Given the description of an element on the screen output the (x, y) to click on. 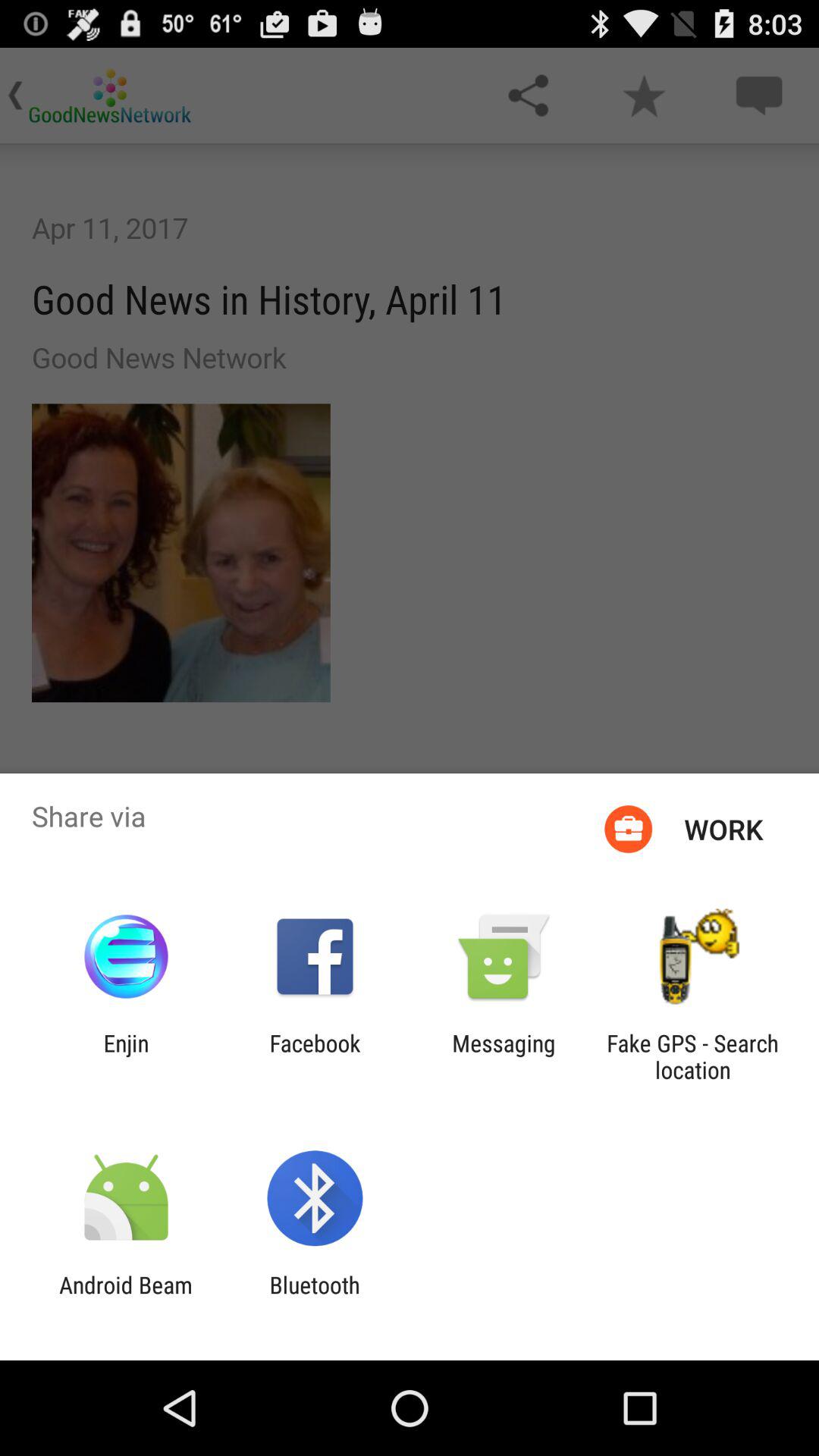
tap the app to the left of messaging item (314, 1056)
